Given the description of an element on the screen output the (x, y) to click on. 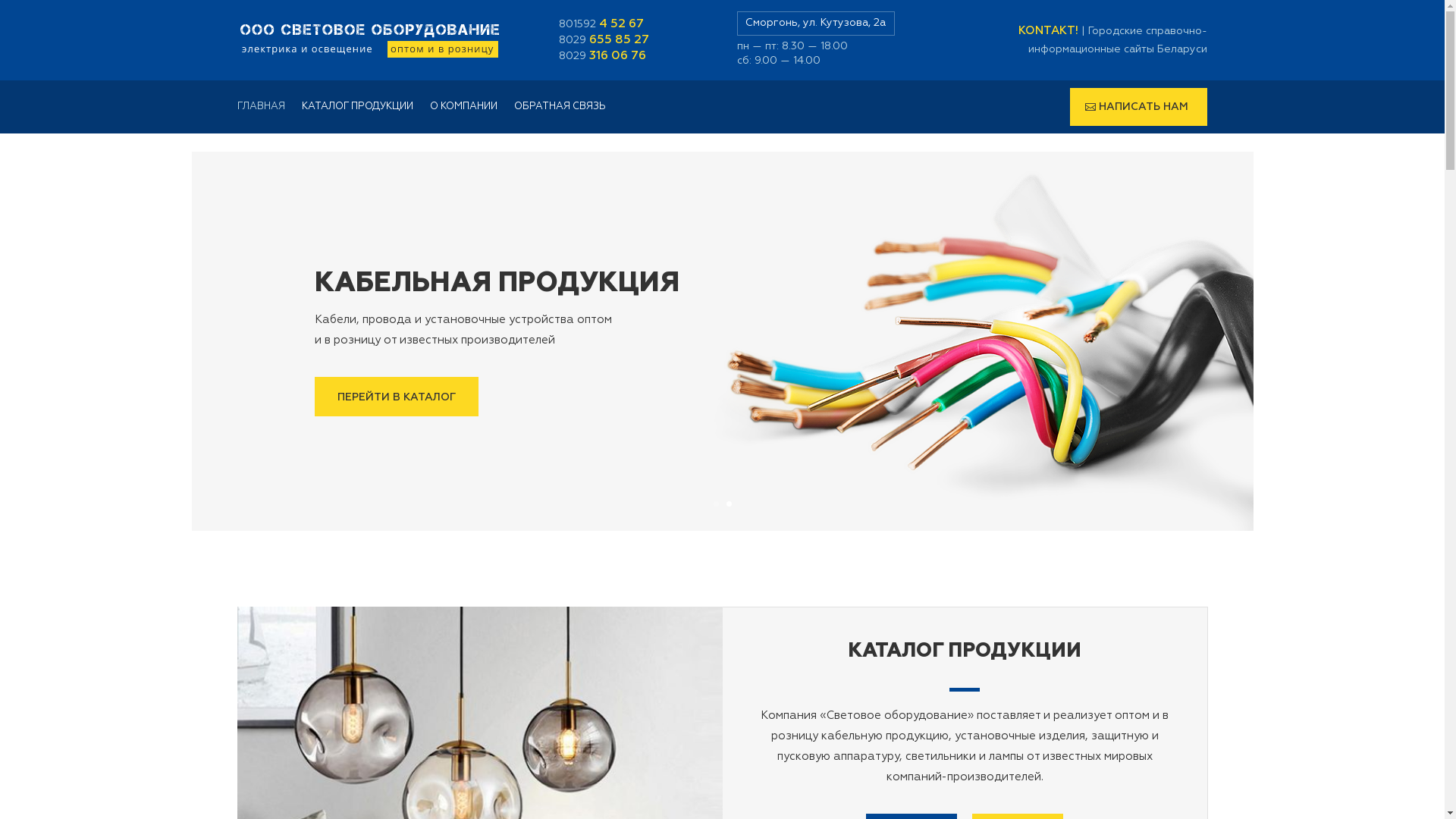
1 Element type: text (715, 503)
4 52 67 Element type: text (621, 24)
logo_svob Element type: hover (369, 39)
2 Element type: text (728, 503)
316 06 76 Element type: text (617, 56)
655 85 27 Element type: text (619, 40)
KONTAKT! Element type: text (1048, 30)
